Given the description of an element on the screen output the (x, y) to click on. 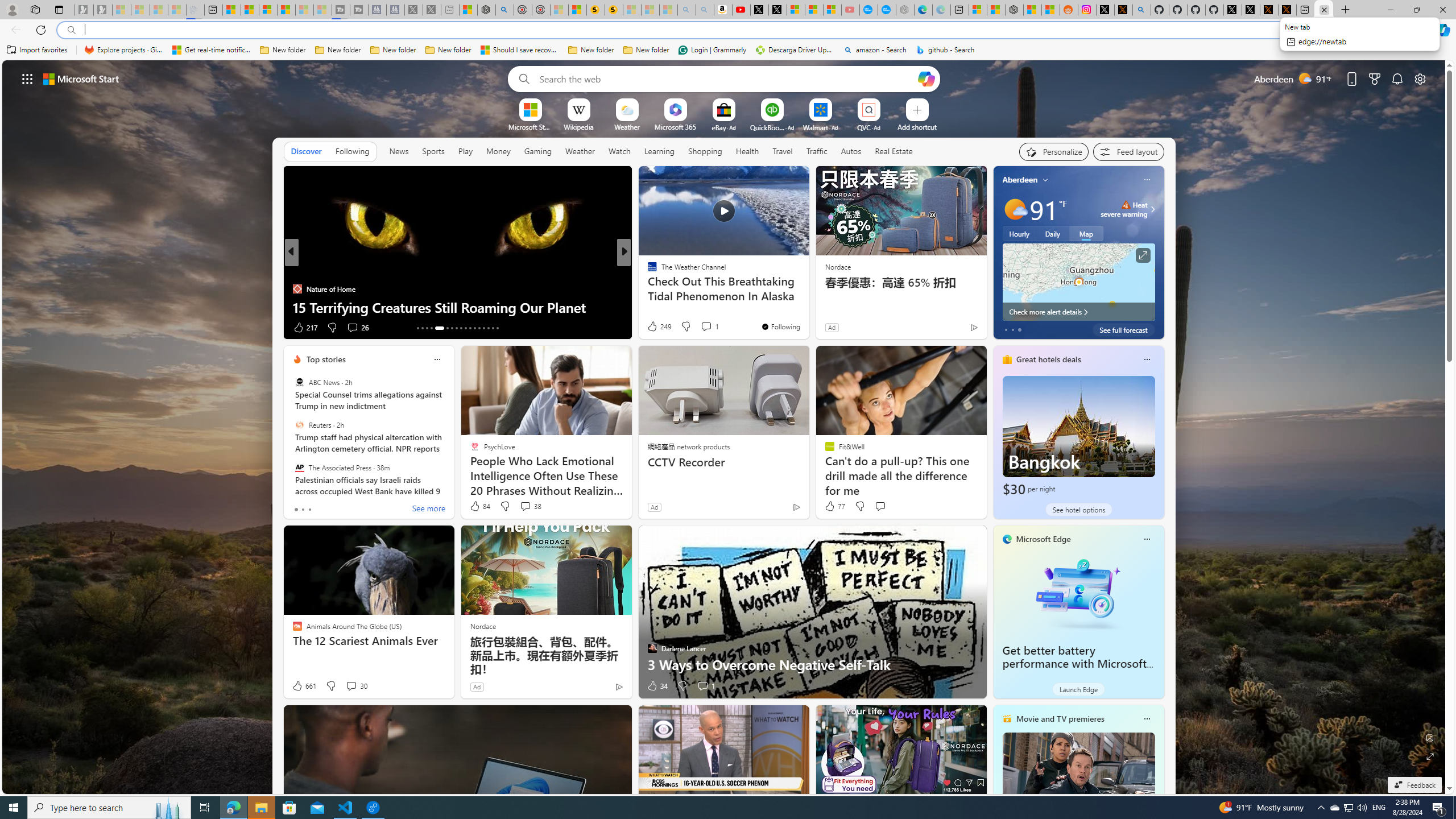
Great hotels deals (1048, 359)
Personalize your feed" (1054, 151)
View comments 2 Comment (694, 327)
Larger map  (1077, 282)
Get better battery performance with Microsoft Edge (1074, 664)
206 Like (654, 327)
Profile / X (1232, 9)
